Given the description of an element on the screen output the (x, y) to click on. 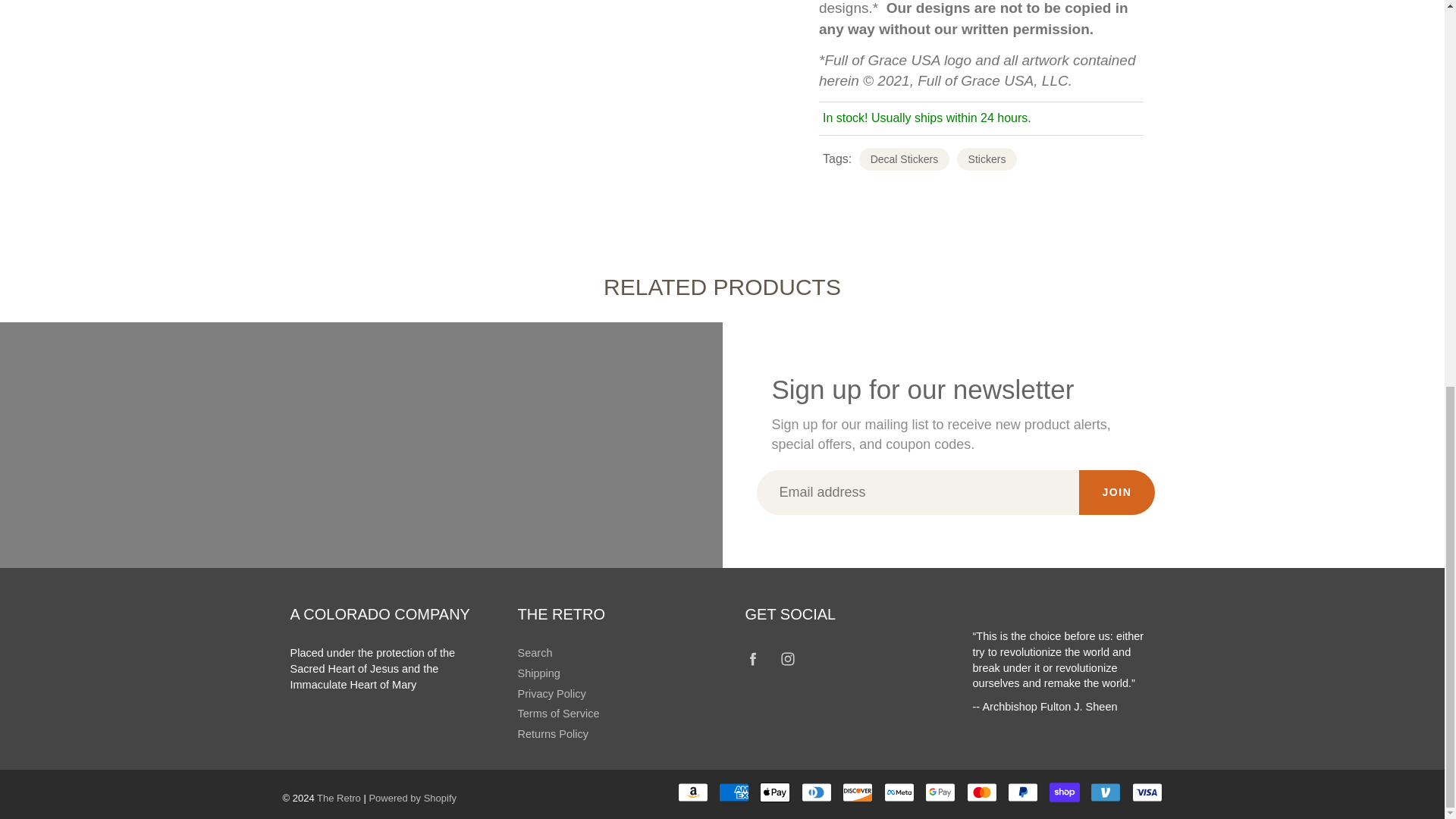
Facebook (753, 658)
Venmo (1105, 792)
American Express (734, 792)
Amazon (692, 792)
Shop Pay (1064, 792)
Meta Pay (898, 792)
Google Pay (939, 792)
Diners Club (816, 792)
Visa (1146, 792)
PayPal (1022, 792)
